Given the description of an element on the screen output the (x, y) to click on. 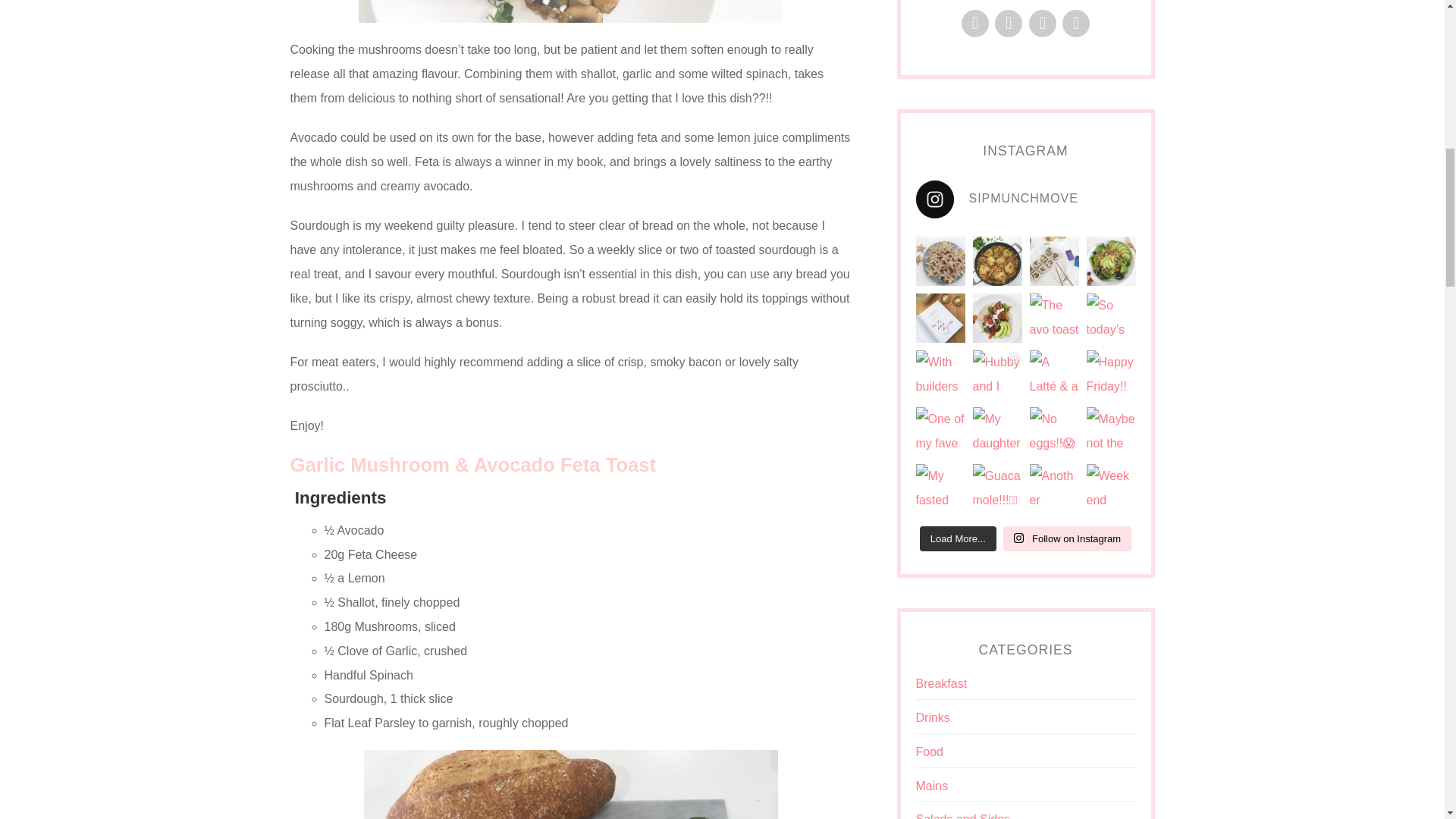
SIPMUNCHMOVE (1025, 199)
